Given the description of an element on the screen output the (x, y) to click on. 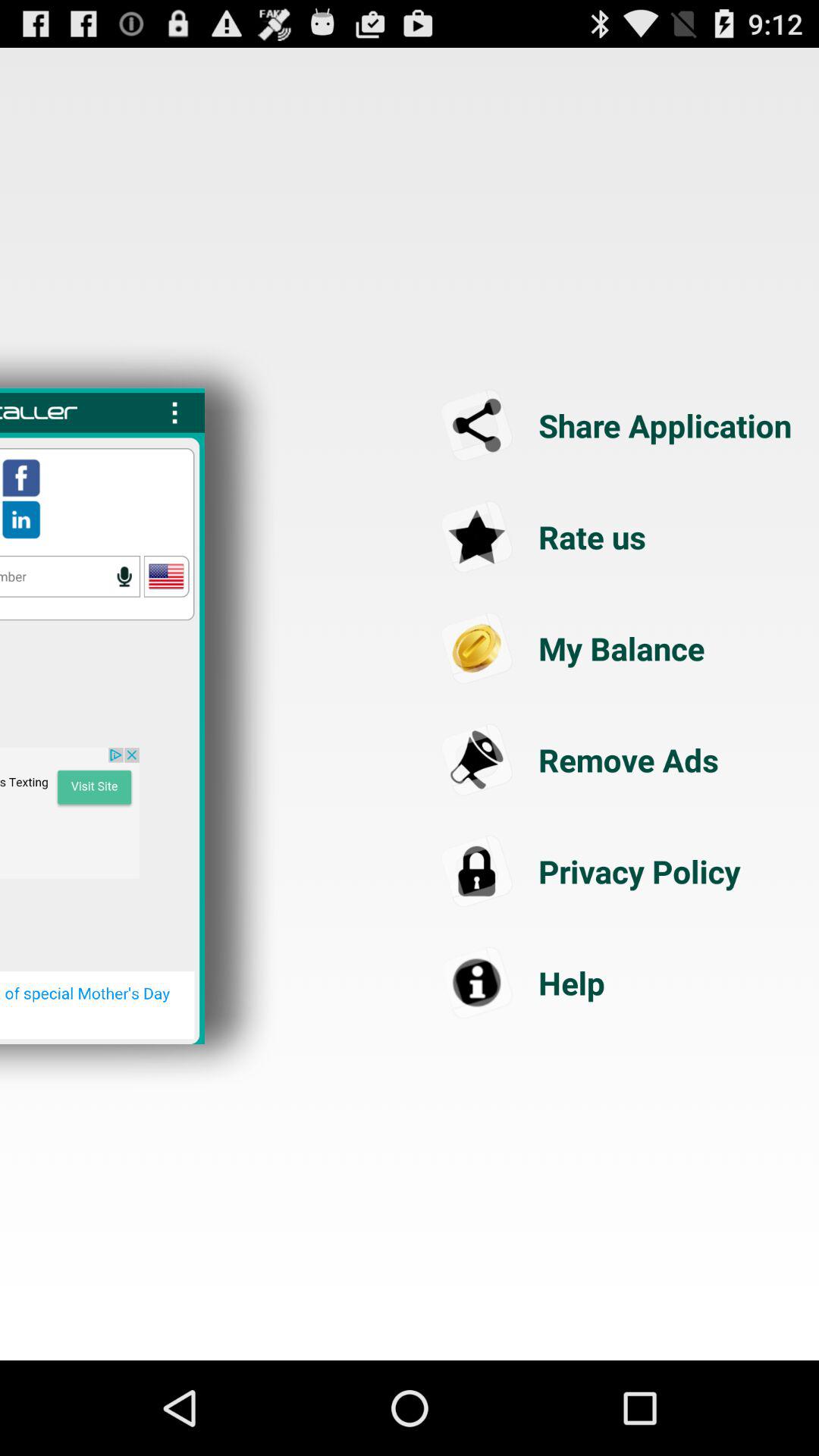
visit site (69, 813)
